Given the description of an element on the screen output the (x, y) to click on. 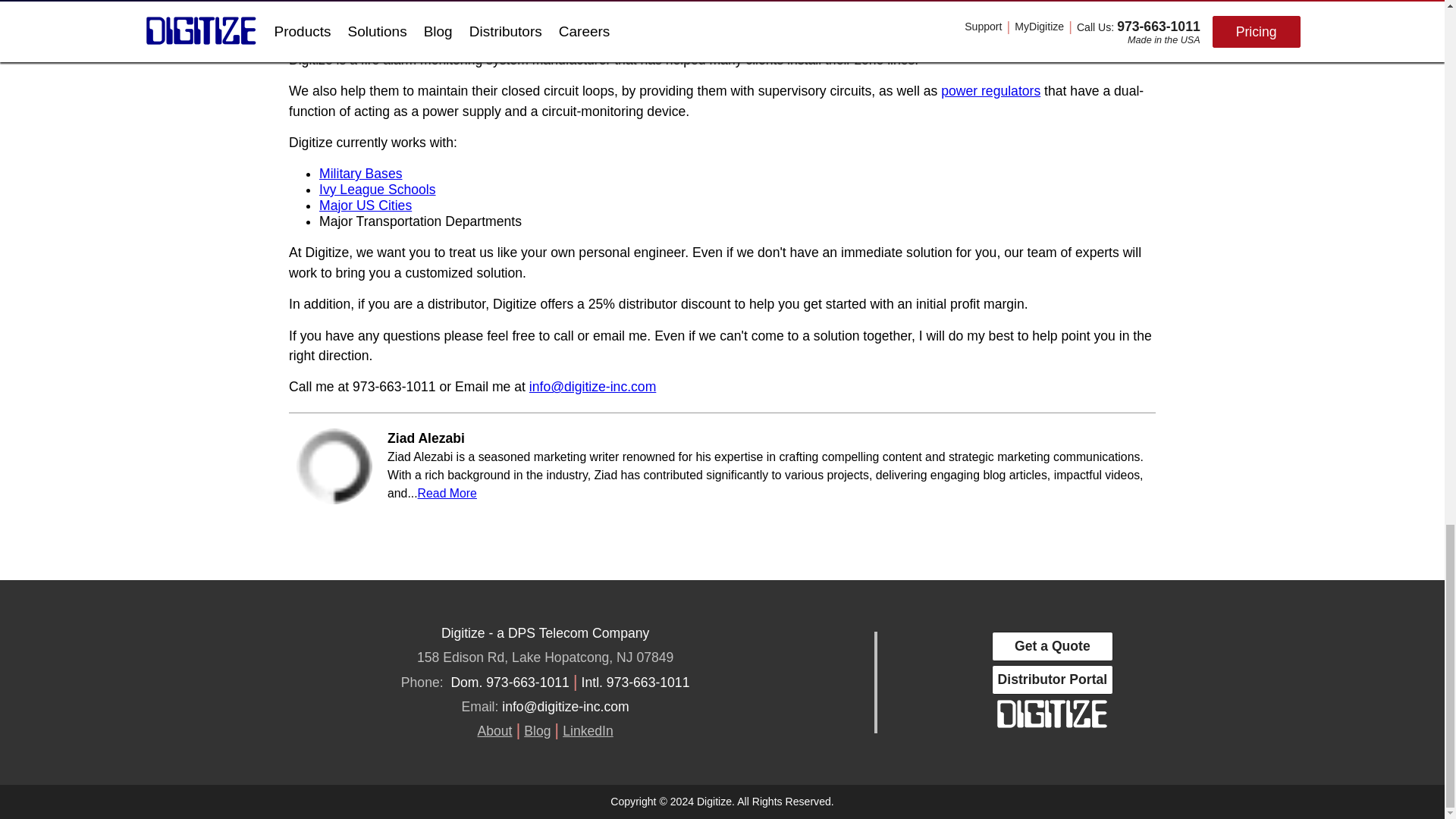
Get a Quote (1052, 645)
Military Bases (360, 173)
About (494, 730)
LinkedIn (587, 730)
Distributor Portal (1052, 679)
Dom. 973-663-1011 (509, 682)
Read More (447, 492)
power regulators (990, 90)
Major US Cities (365, 205)
Ivy League Schools (376, 189)
